Given the description of an element on the screen output the (x, y) to click on. 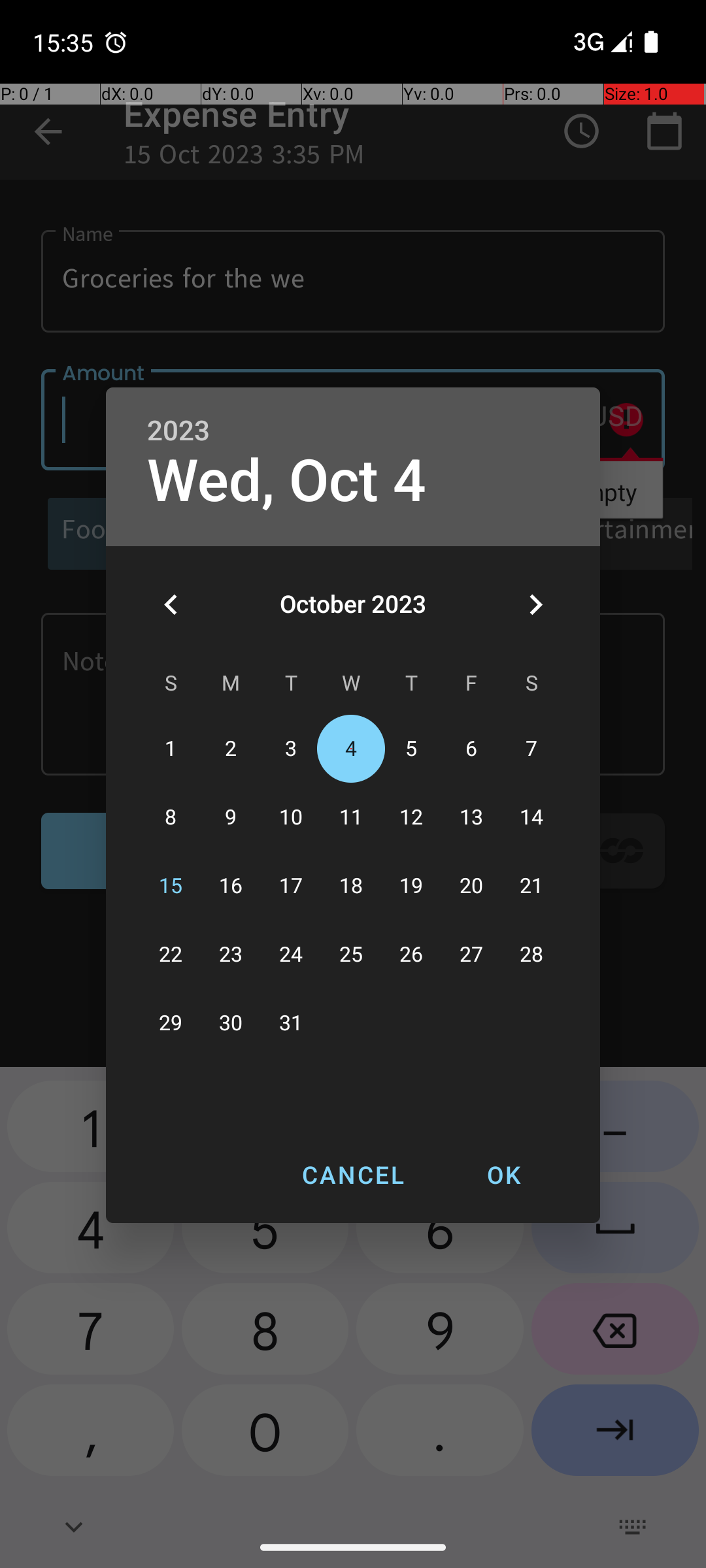
Wed, Oct 4 Element type: android.widget.TextView (286, 480)
